Given the description of an element on the screen output the (x, y) to click on. 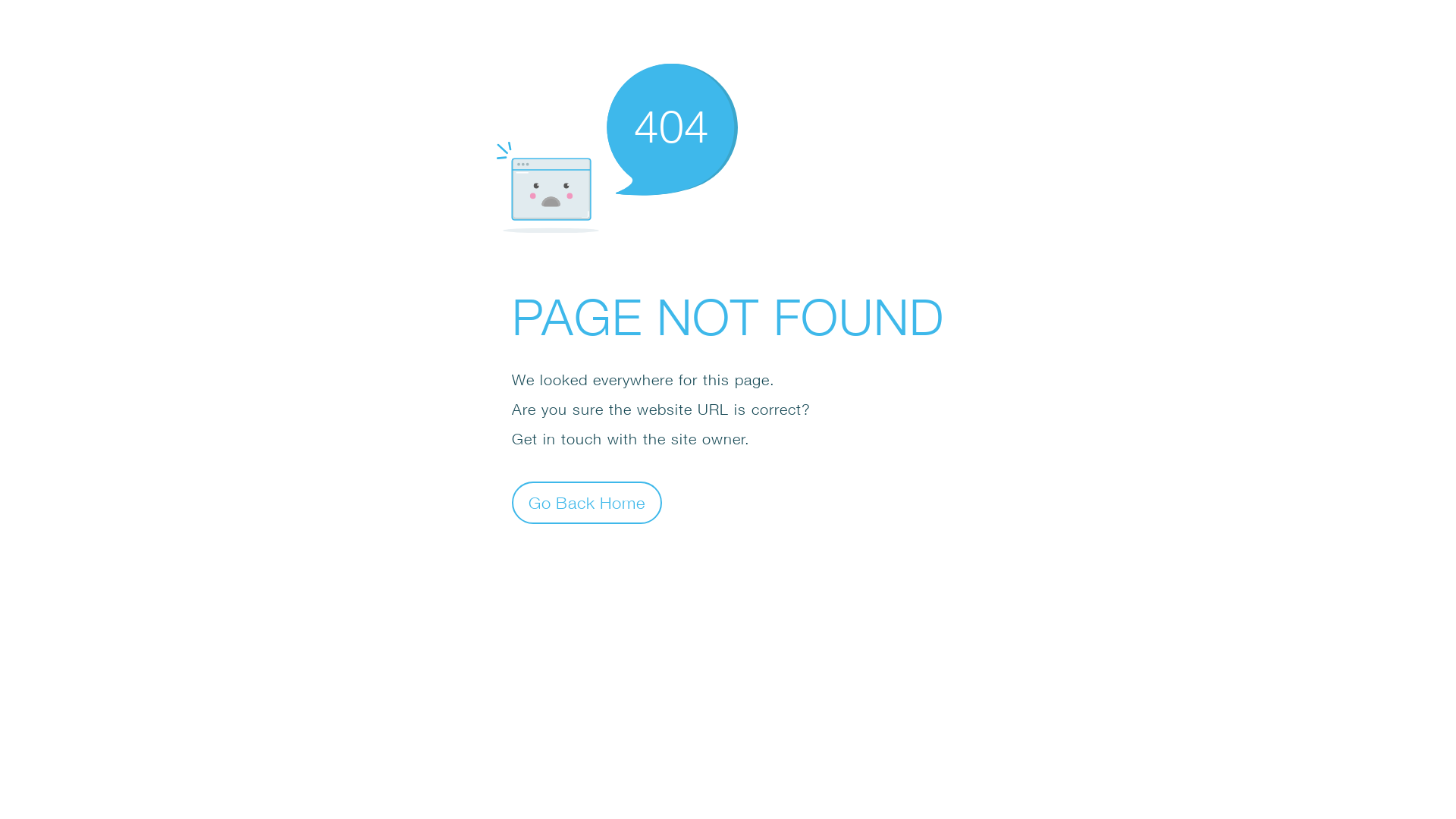
Go Back Home Element type: text (586, 502)
